Given the description of an element on the screen output the (x, y) to click on. 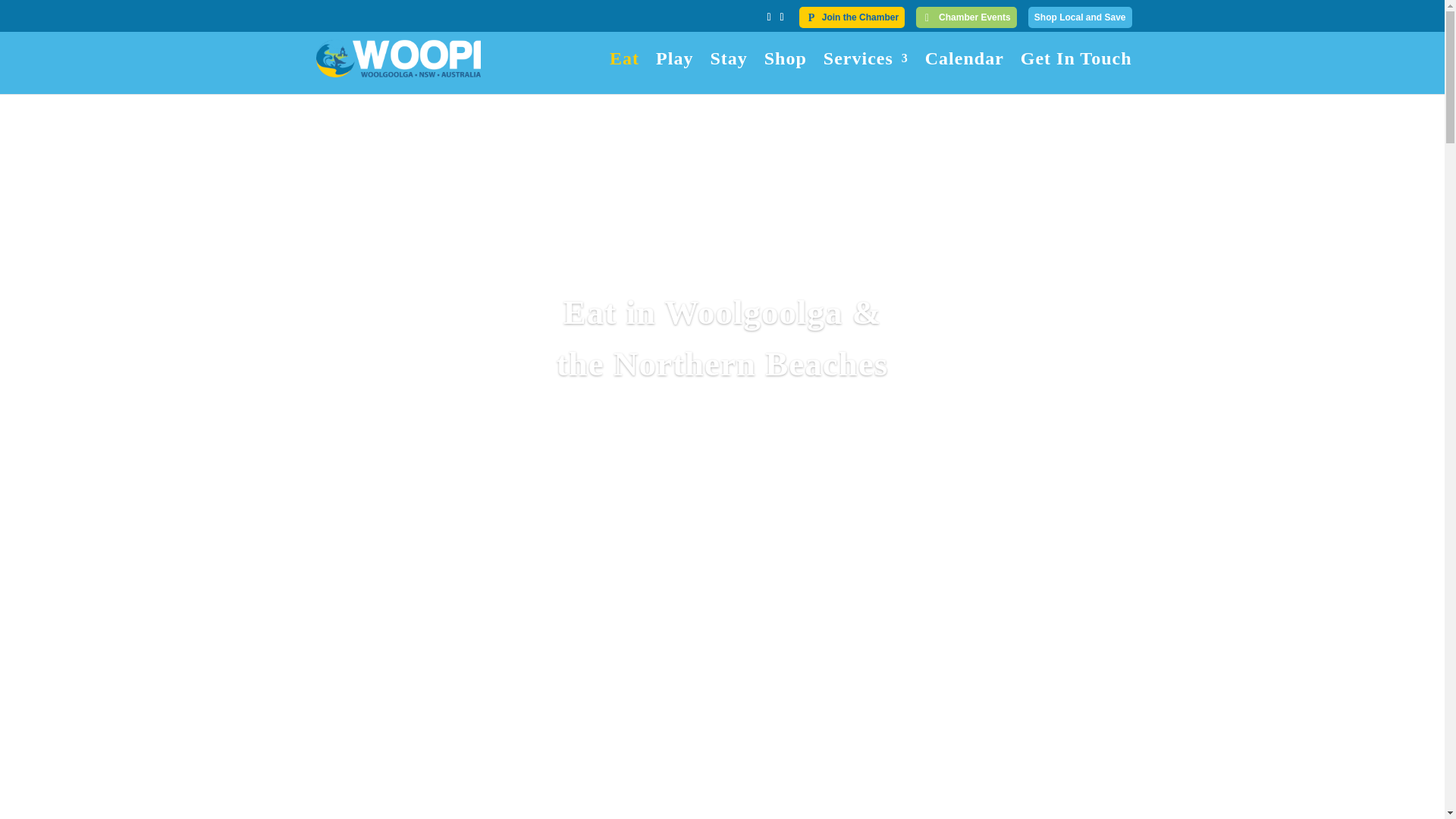
Calendar Element type: text (964, 73)
Join the Chamber Element type: text (851, 17)
Eat Element type: text (624, 73)
Shop Local and Save Element type: text (1080, 17)
Chamber Events Element type: text (966, 17)
Play Element type: text (674, 73)
Services Element type: text (865, 73)
Shop Element type: text (785, 73)
Stay Element type: text (727, 73)
Get In Touch Element type: text (1076, 73)
